Given the description of an element on the screen output the (x, y) to click on. 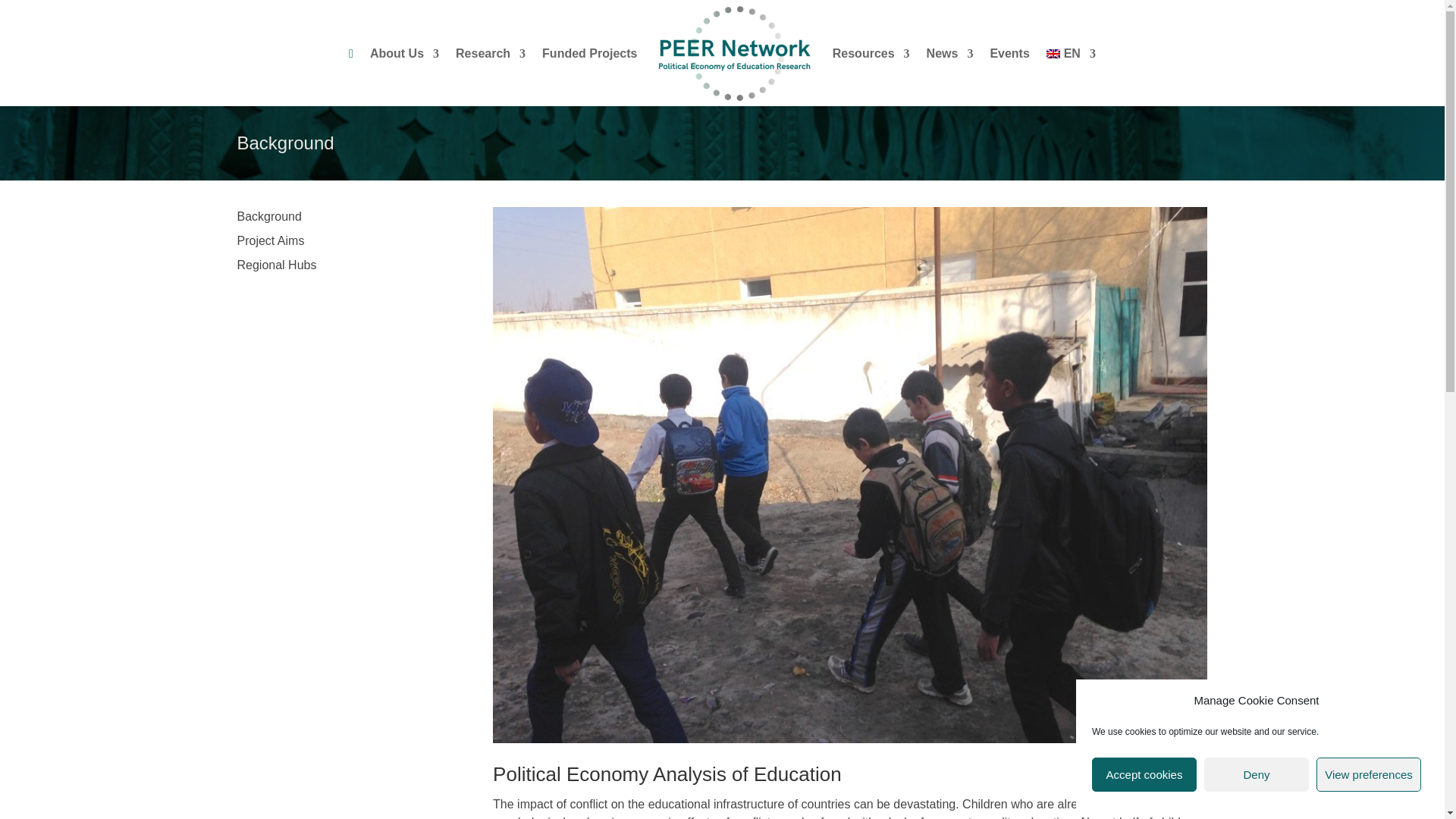
Deny (1256, 774)
Funded Projects (589, 53)
View preferences (1368, 774)
Accept cookies (1144, 774)
